Given the description of an element on the screen output the (x, y) to click on. 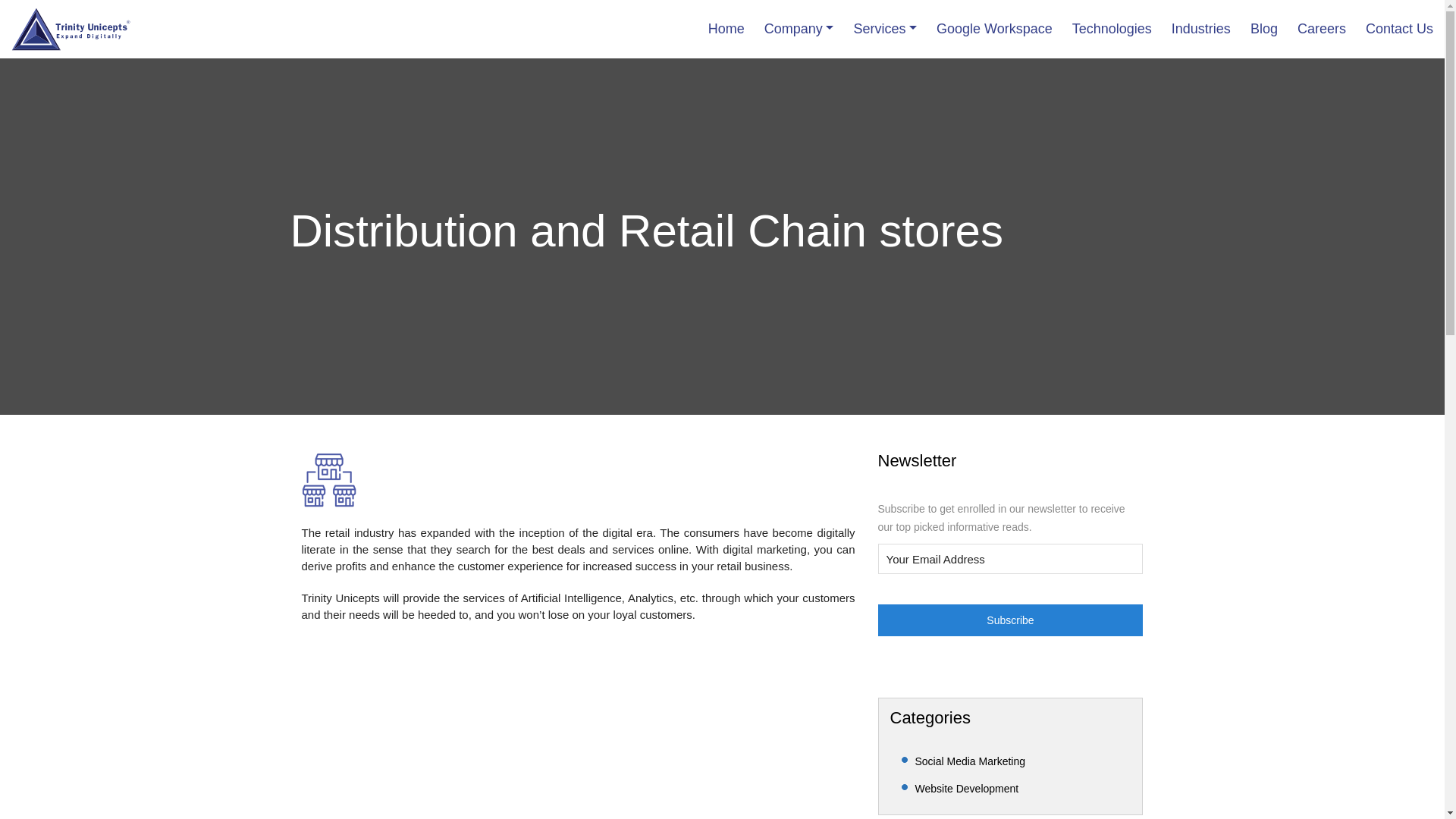
Company (799, 28)
Subscribe (1009, 620)
Subscribe (1009, 620)
Website Development (965, 788)
Home (725, 28)
Contact Us (1398, 28)
Industries (1201, 28)
Company (799, 28)
Technologies (1111, 28)
Google Workspace (994, 28)
